Given the description of an element on the screen output the (x, y) to click on. 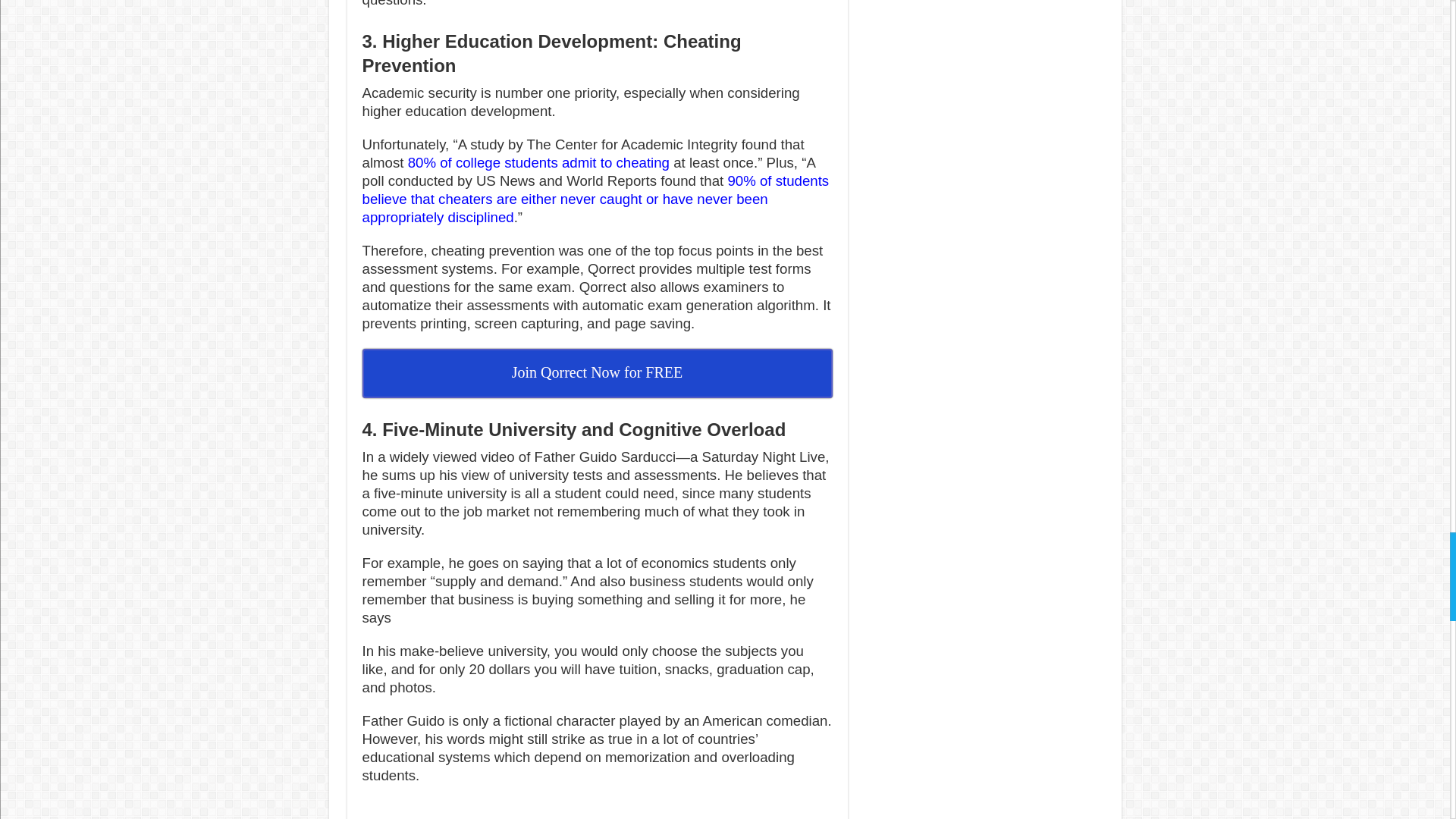
Father Guido Sarducci's Five Minute University (596, 809)
Join Qorrect Now for FREE (597, 373)
